Given the description of an element on the screen output the (x, y) to click on. 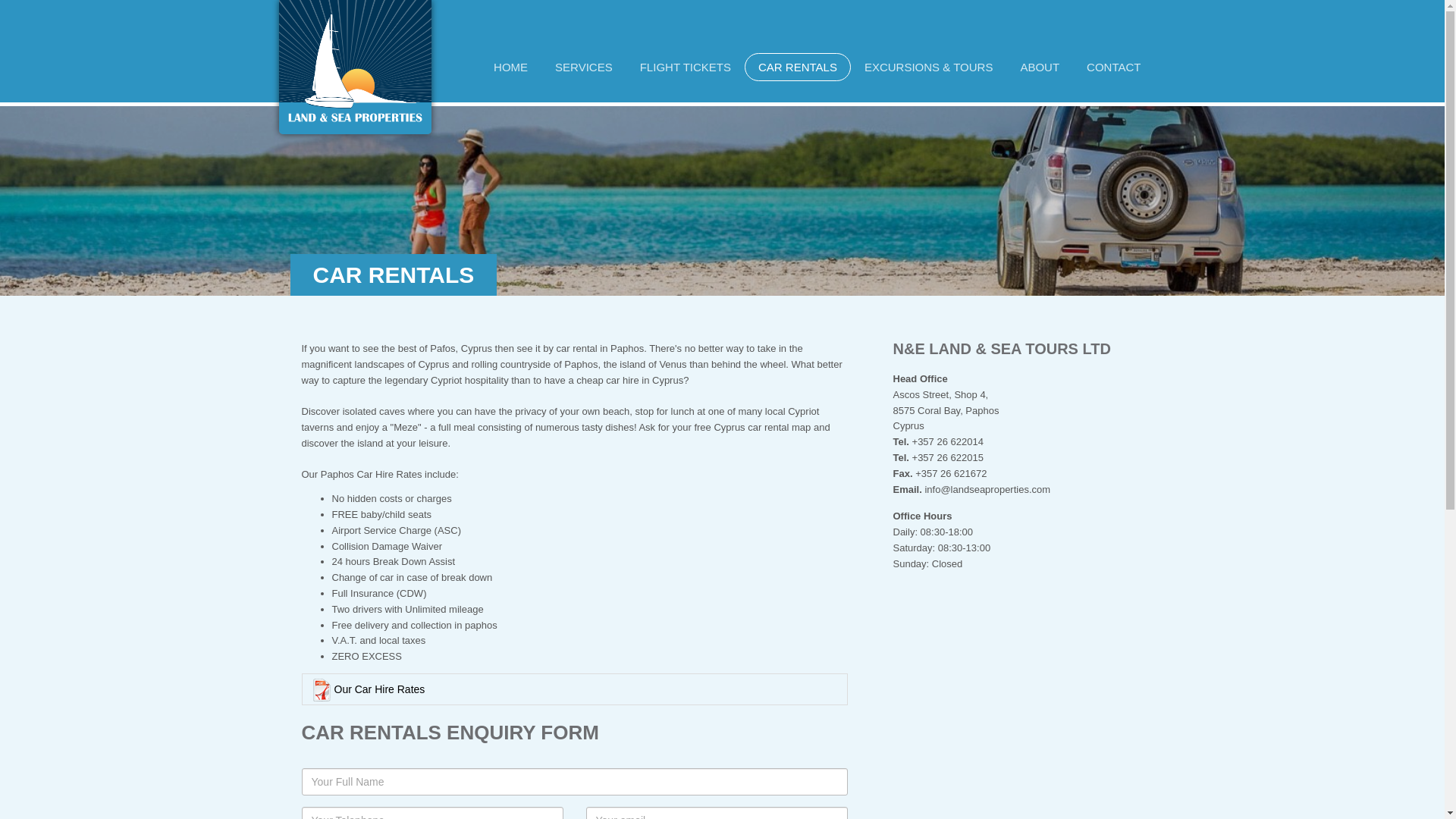
FLIGHT TICKETS (685, 67)
HOME (510, 67)
CONTACT (1113, 67)
Our Car Hire Rates (574, 689)
ABOUT (1039, 67)
CAR RENTALS (797, 67)
SERVICES (583, 67)
